Given the description of an element on the screen output the (x, y) to click on. 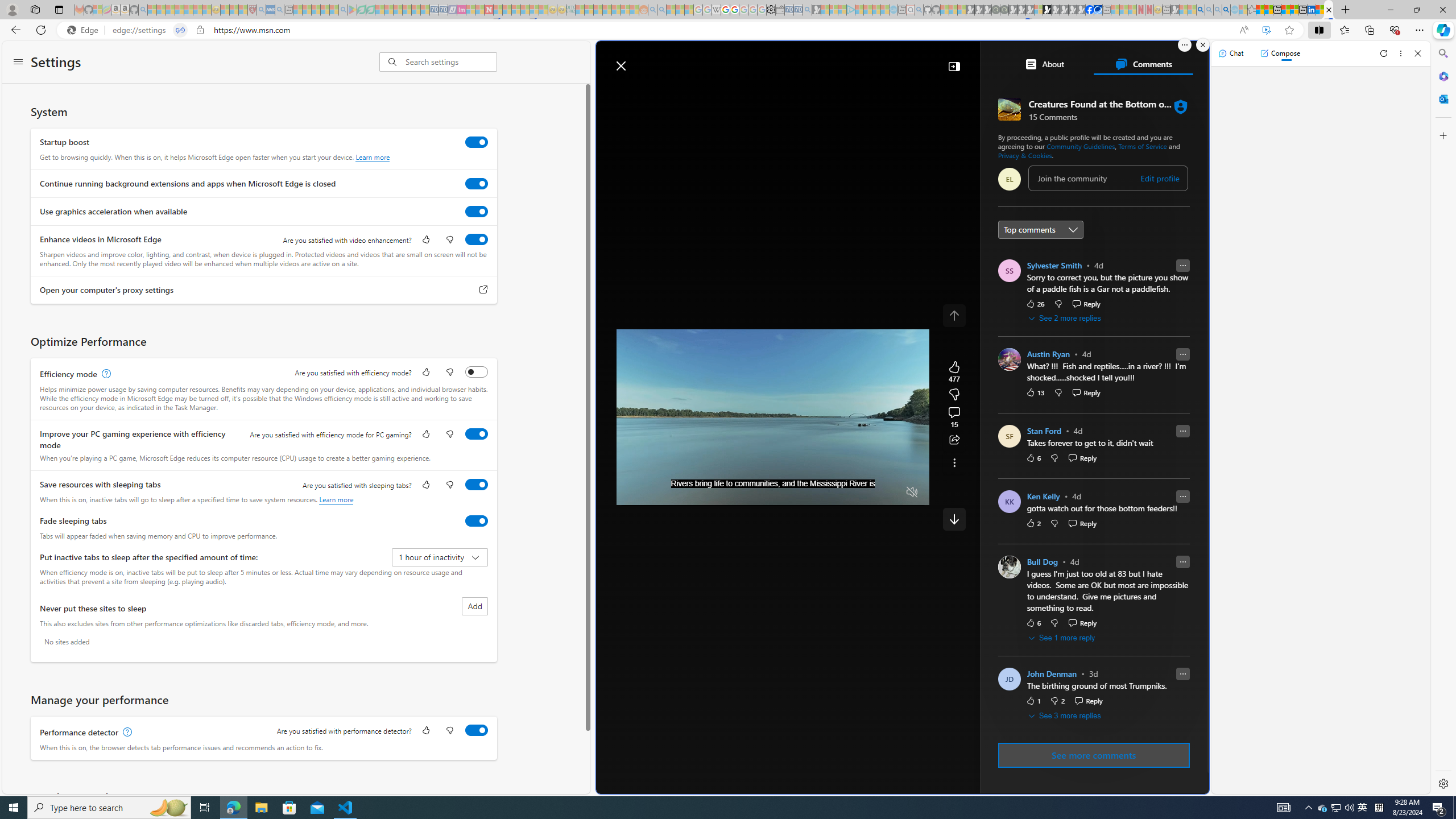
Unmute (912, 492)
Target page - Wikipedia - Sleeping (716, 9)
Reply Reply Comment (1088, 700)
